Given the description of an element on the screen output the (x, y) to click on. 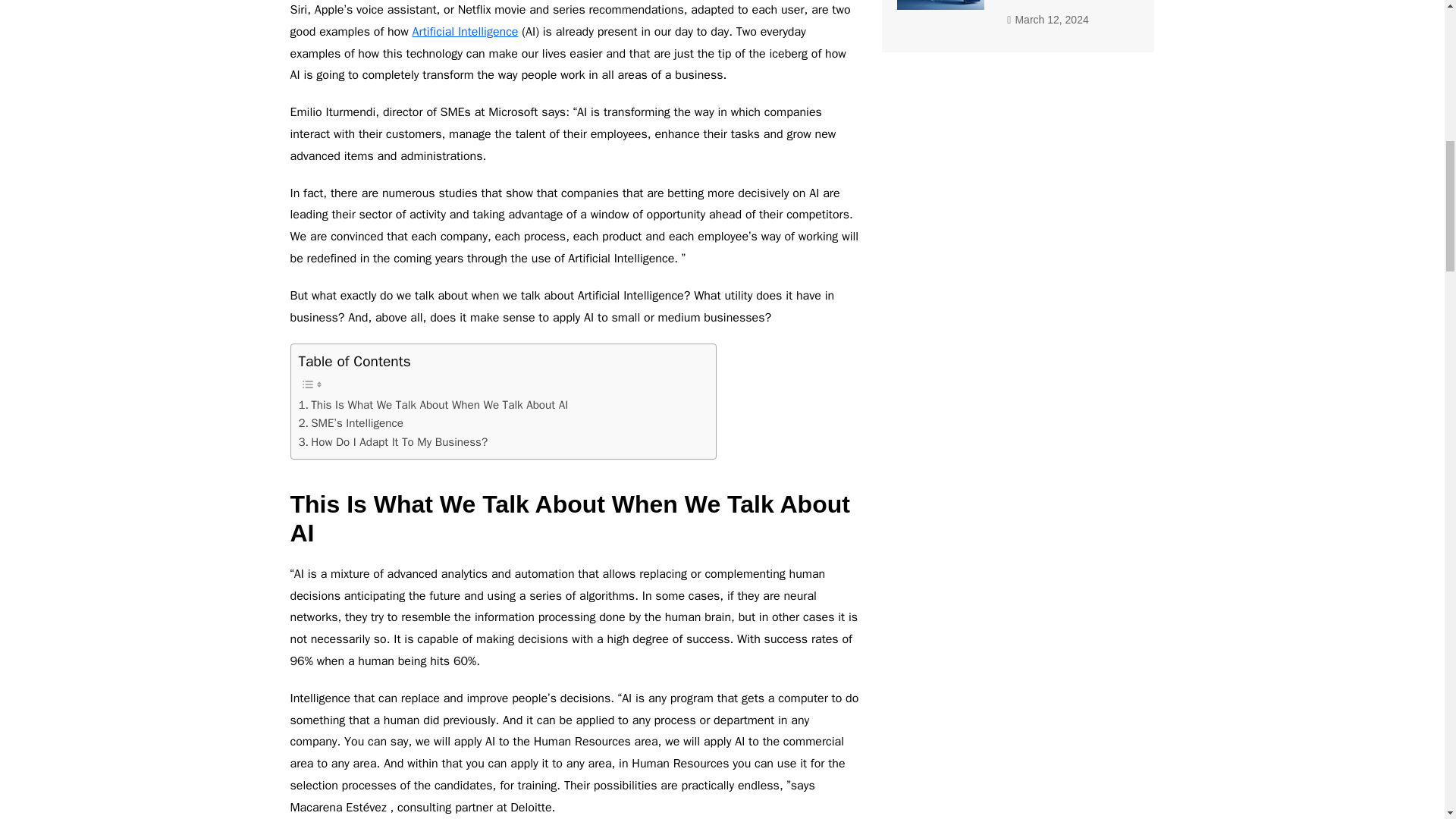
How Do I Adapt It To My Business? (392, 442)
This Is What We Talk About When We Talk About AI (433, 404)
Artificial Intelligence (465, 31)
This Is What We Talk About When We Talk About AI (433, 404)
